Given the description of an element on the screen output the (x, y) to click on. 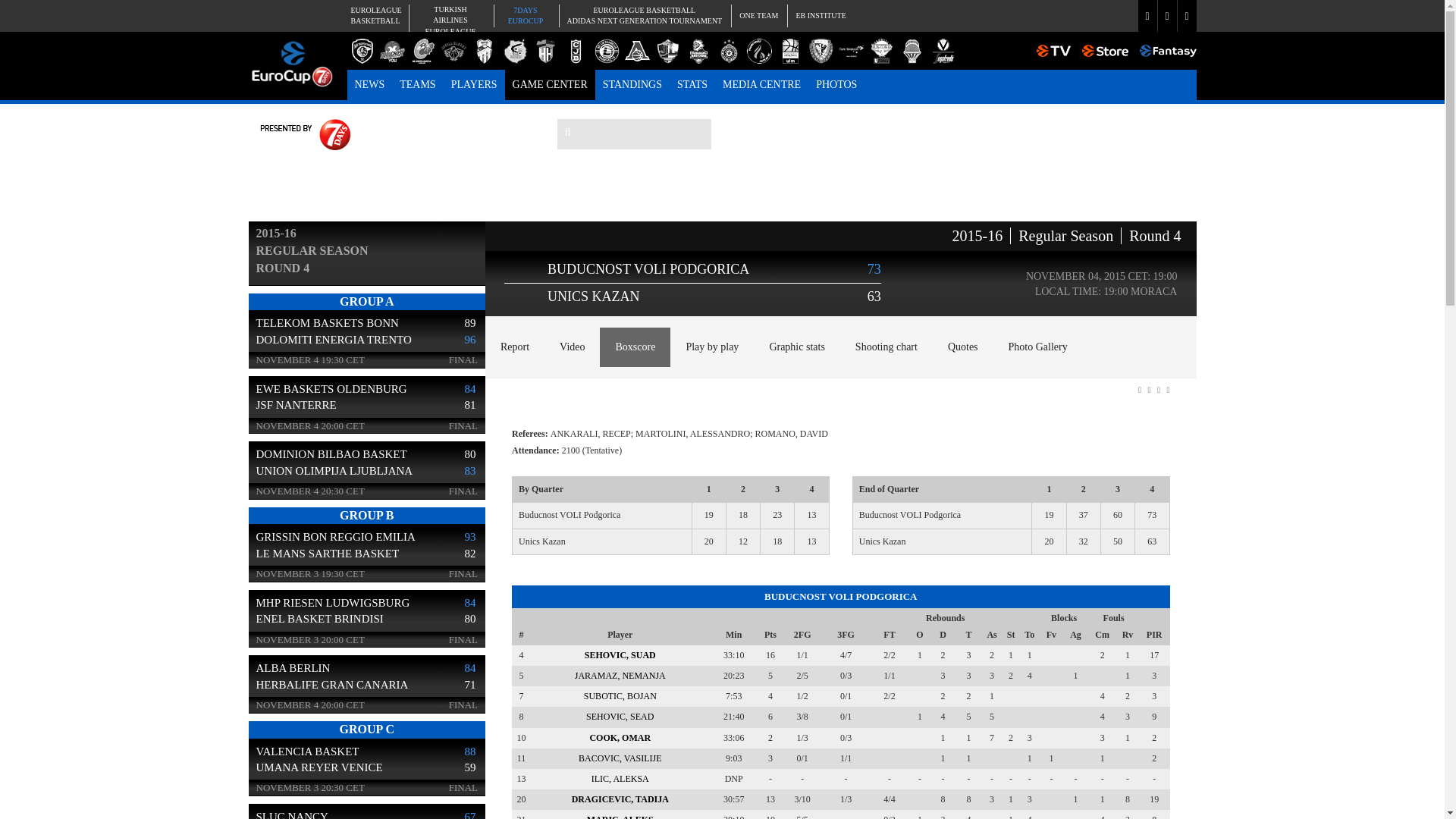
7DAYS EUROCUP (524, 15)
GAME CENTER (550, 84)
Hamburg Towers (544, 50)
Boulogne Metropolitans 92 (362, 50)
Lietkabelis Panevezys (606, 50)
Euroleague Basketball (374, 15)
Joventut Badalona (575, 50)
ONE TEAM (758, 15)
EUROLEAGUE BASKETBALL (643, 15)
STANDINGS (374, 15)
TURKISH AIRLINES EUROLEAGUE (632, 84)
Buducnost VOLI Podgorica (449, 20)
Turkish Airlines EuroLeague (392, 50)
Frutti Extra Bursaspor (449, 20)
